Given the description of an element on the screen output the (x, y) to click on. 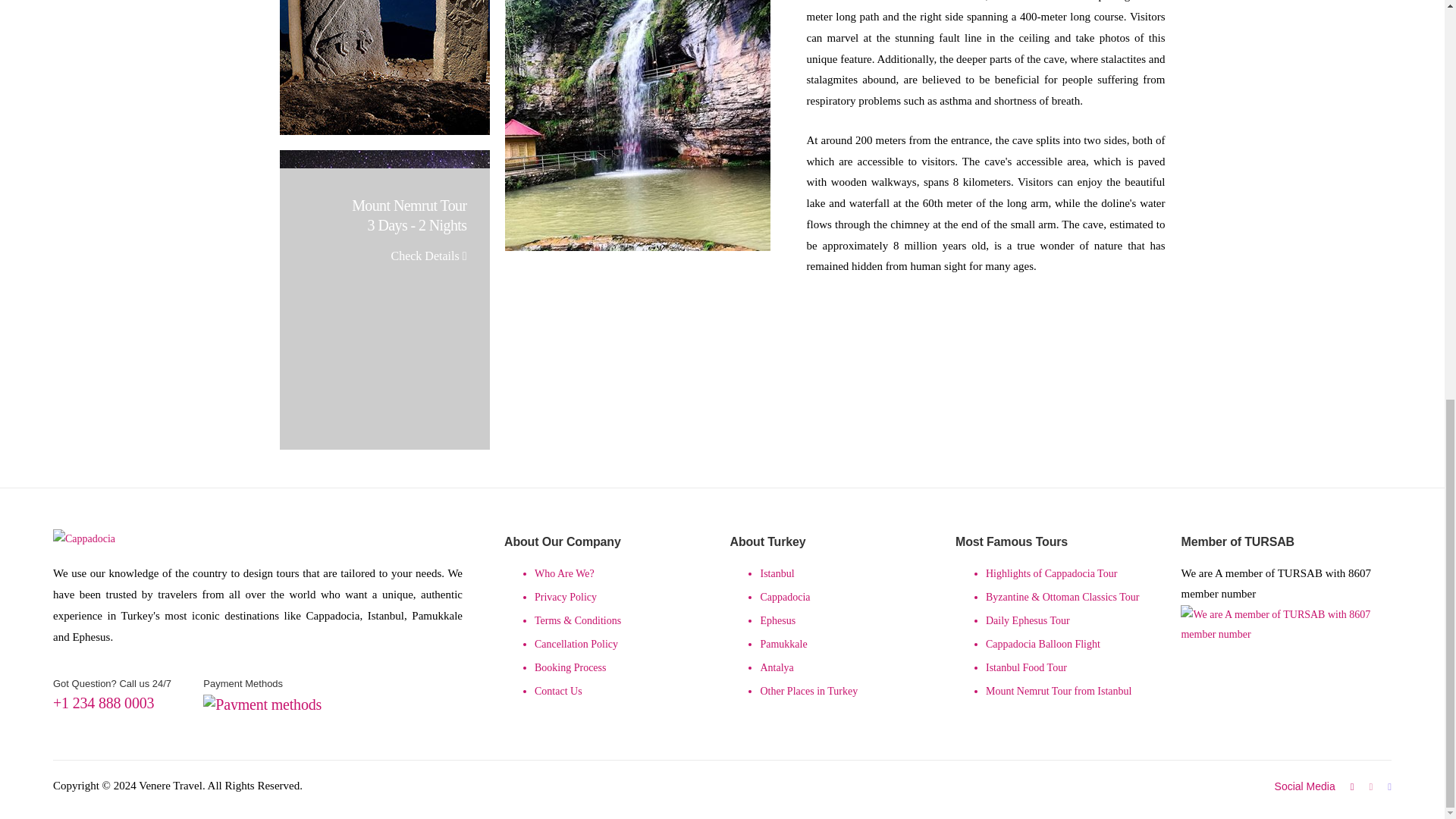
Eastern Turkey Tour (384, 67)
Cappadocia and Turkey Tours (92, 538)
Cal Cave (637, 125)
We are A member of TURSAB with 8607 member number (1285, 653)
